Given the description of an element on the screen output the (x, y) to click on. 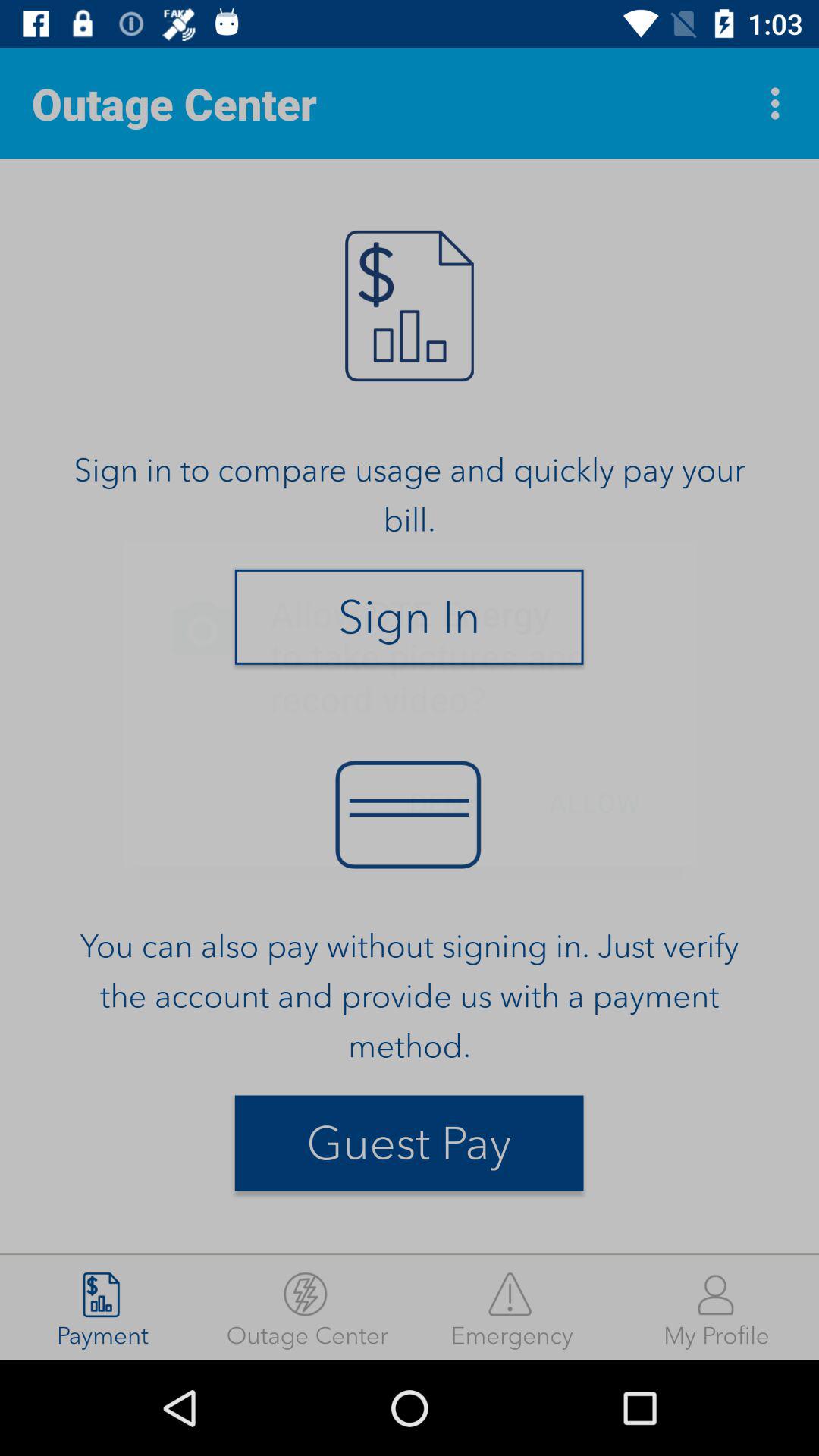
turn on the emergency icon (511, 1307)
